Given the description of an element on the screen output the (x, y) to click on. 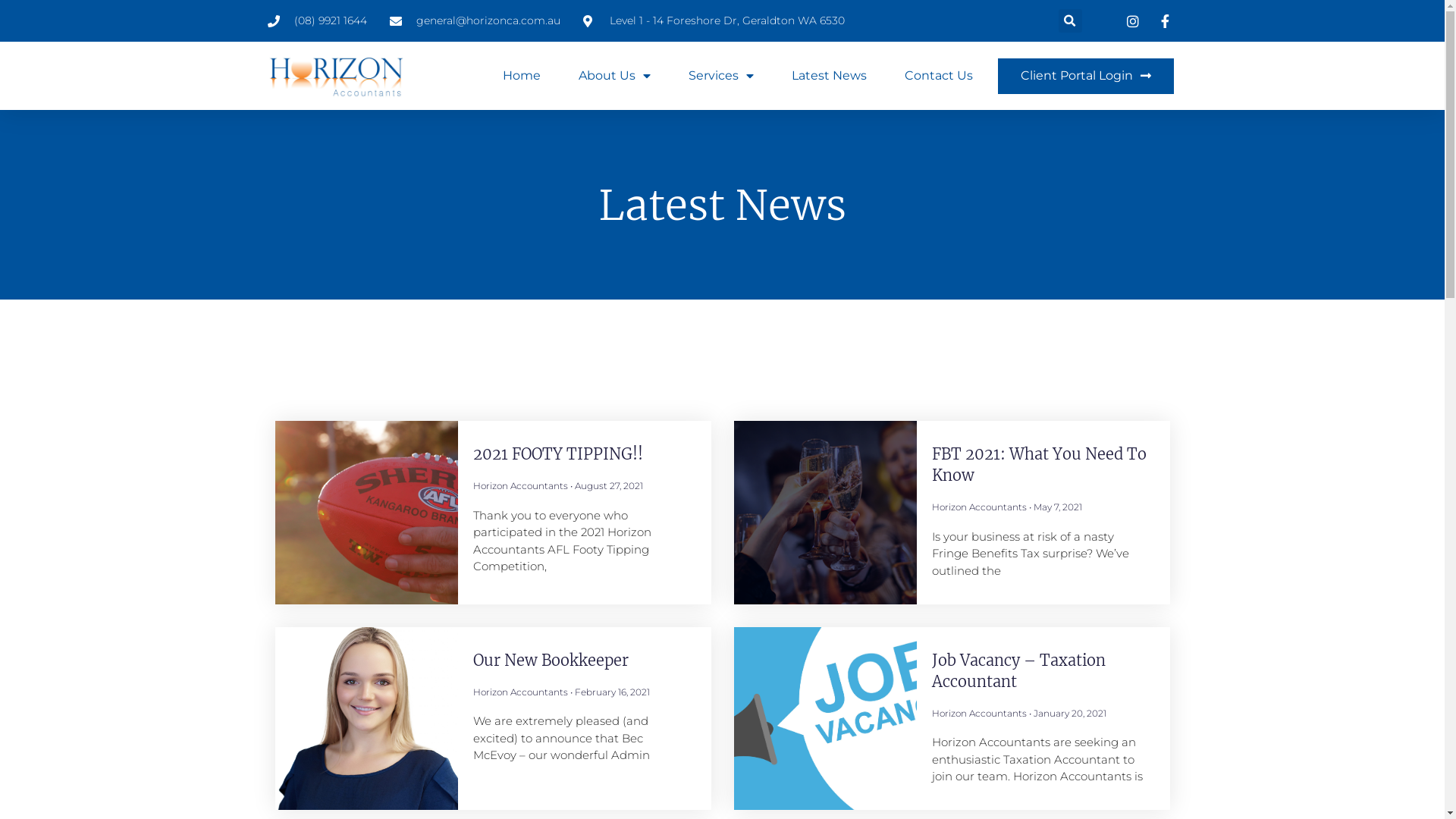
Home Element type: text (520, 75)
Our New Bookkeeper Element type: text (550, 659)
(08) 9921 1644 Element type: text (316, 20)
Contact Us Element type: text (937, 75)
About Us Element type: text (613, 75)
Client Portal Login Element type: text (1085, 76)
2021 FOOTY TIPPING!! Element type: text (558, 453)
Services Element type: text (720, 75)
Latest News Element type: text (828, 75)
general@horizonca.com.au Element type: text (474, 20)
FBT 2021: What You Need To Know Element type: text (1038, 464)
